Given the description of an element on the screen output the (x, y) to click on. 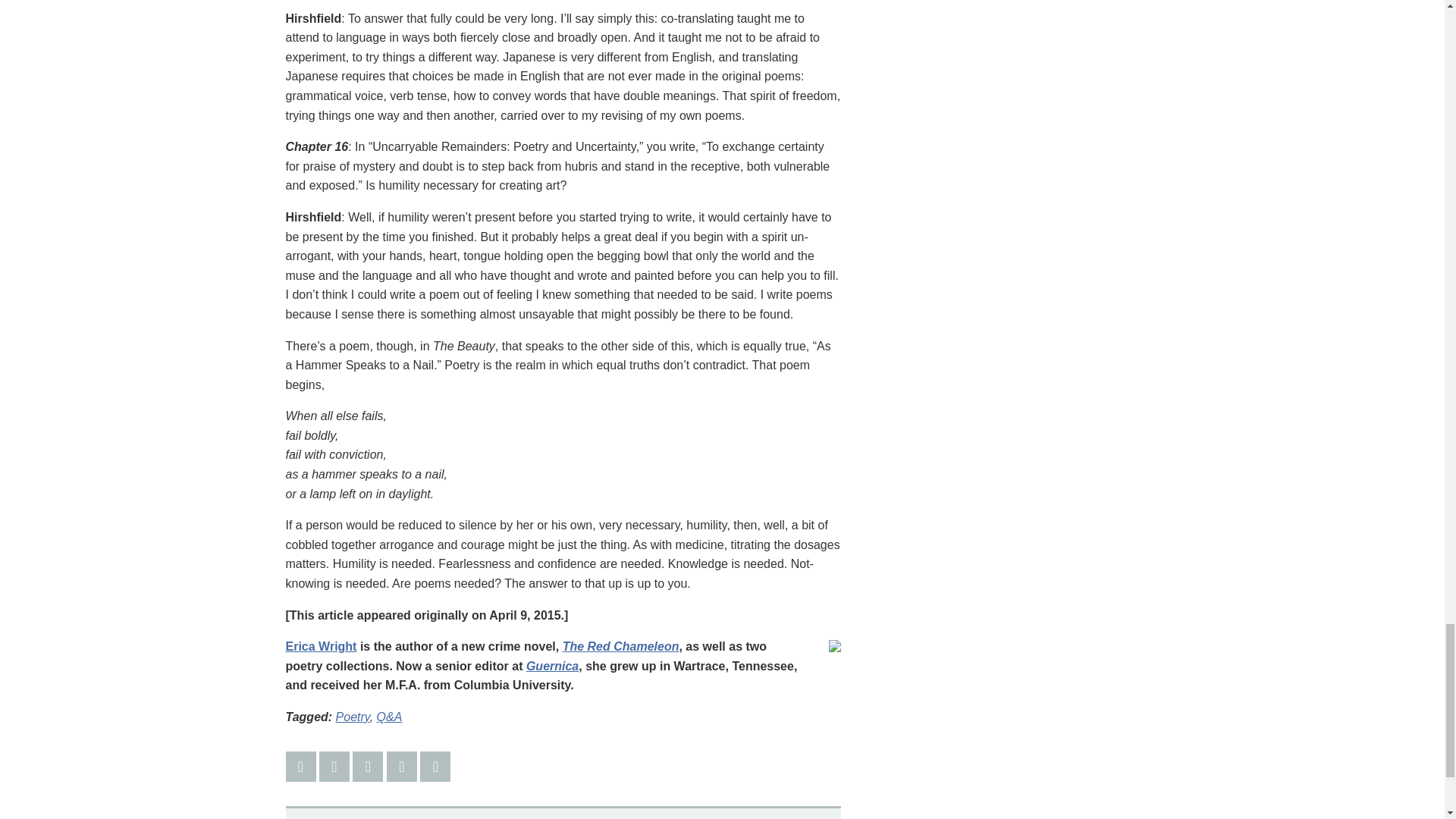
Erica Wright (320, 645)
Poetry (352, 716)
Print (434, 766)
Tweet (333, 766)
Email (401, 766)
Guernica (551, 666)
The Red Chameleon (620, 645)
Share on Facebook (300, 766)
